Given the description of an element on the screen output the (x, y) to click on. 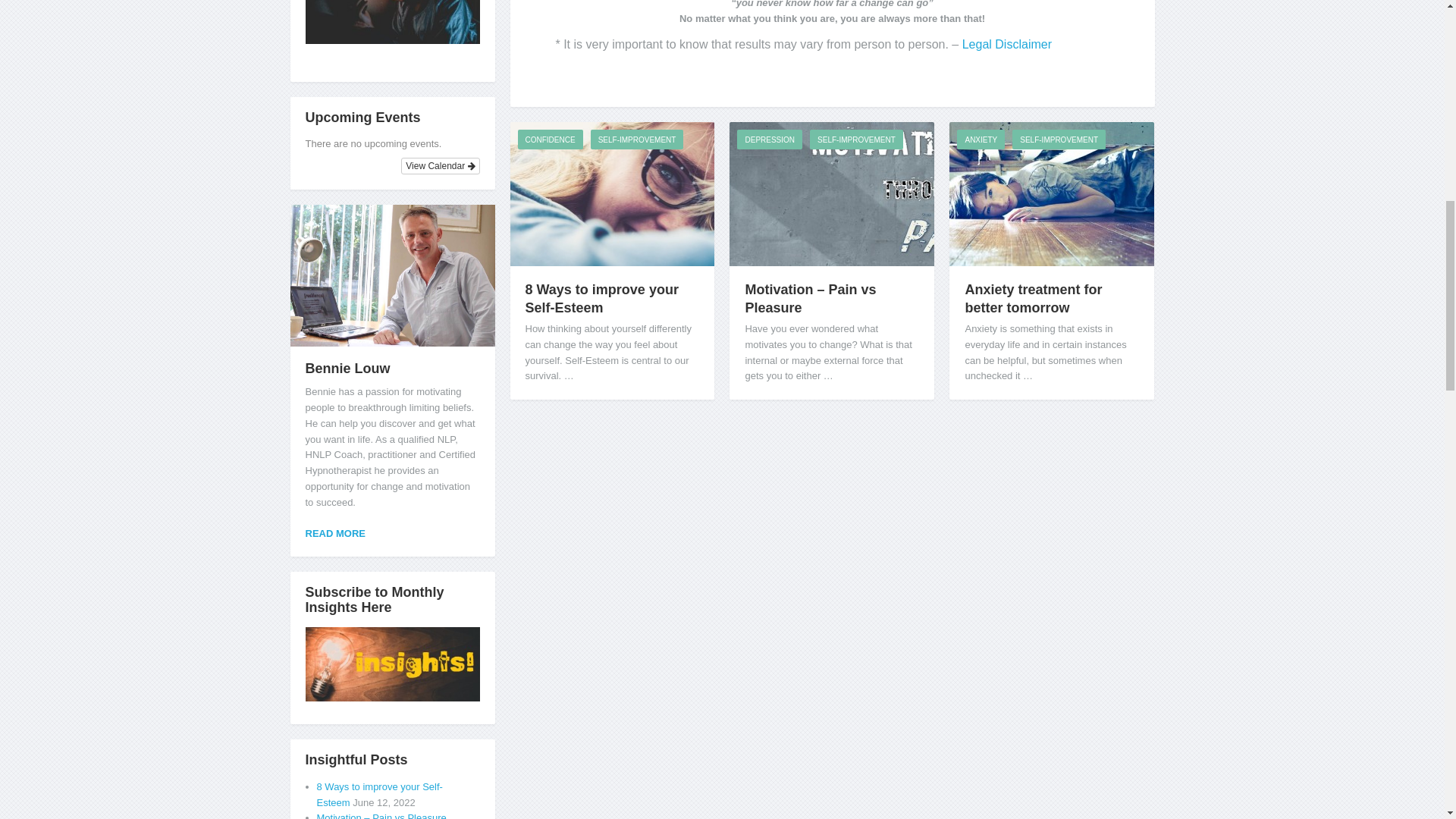
8 Ways to improve your Self-Esteem (601, 298)
Anxiety treatment for better tomorrow (1032, 298)
SELF-IMPROVEMENT (637, 139)
DEPRESSION (769, 139)
ANXIETY (980, 139)
SELF-IMPROVEMENT (855, 139)
SELF-IMPROVEMENT (1058, 139)
CONFIDENCE (549, 139)
Legal Disclaimer (1006, 43)
